Given the description of an element on the screen output the (x, y) to click on. 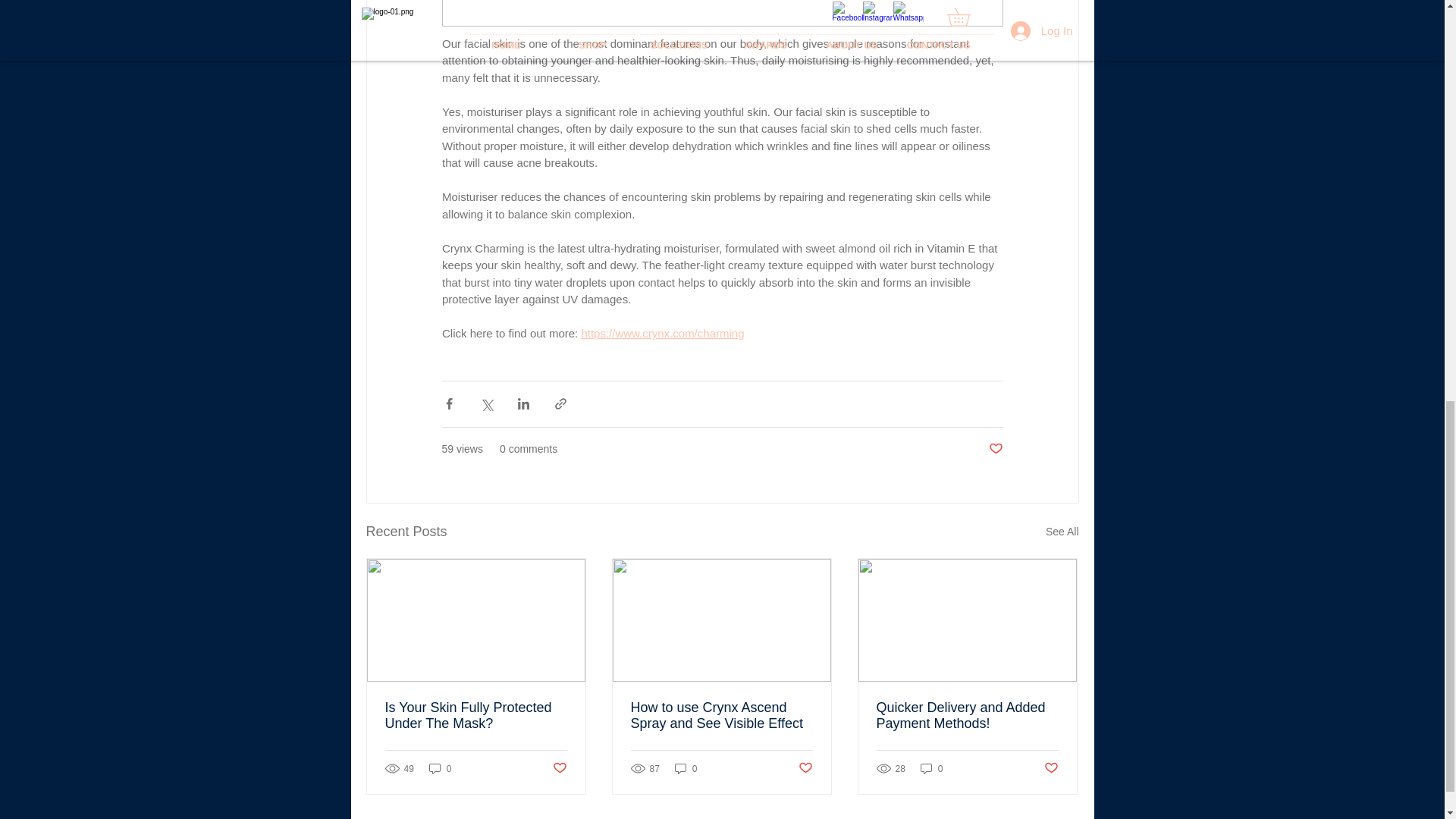
0 (685, 768)
How to use Crynx Ascend Spray and See Visible Effect (721, 716)
Post not marked as liked (995, 449)
Quicker Delivery and Added Payment Methods! (967, 716)
0 (931, 768)
See All (1061, 531)
Post not marked as liked (1050, 768)
Post not marked as liked (558, 768)
0 (440, 768)
Post not marked as liked (804, 768)
Is Your Skin Fully Protected Under The Mask? (476, 716)
